Given the description of an element on the screen output the (x, y) to click on. 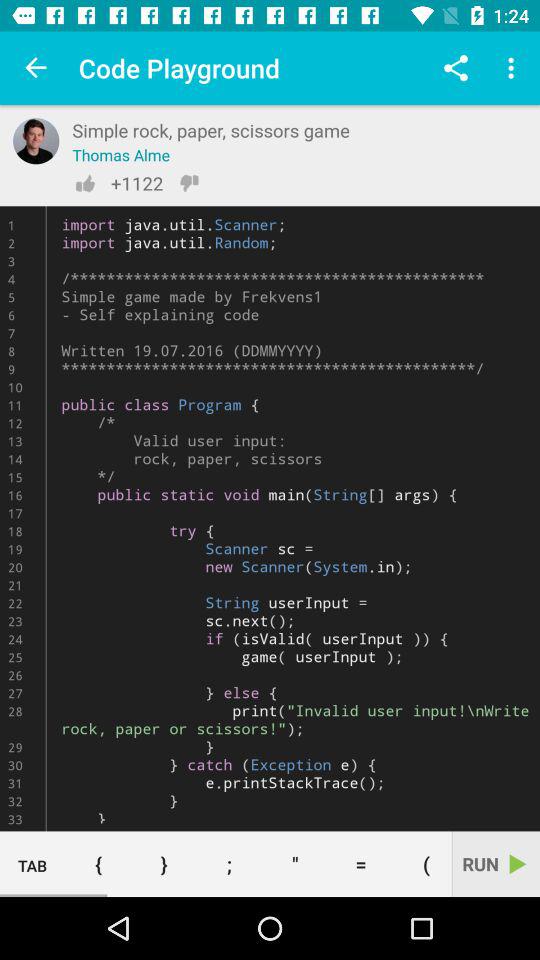
turn on the button to the right of the " icon (360, 863)
